Given the description of an element on the screen output the (x, y) to click on. 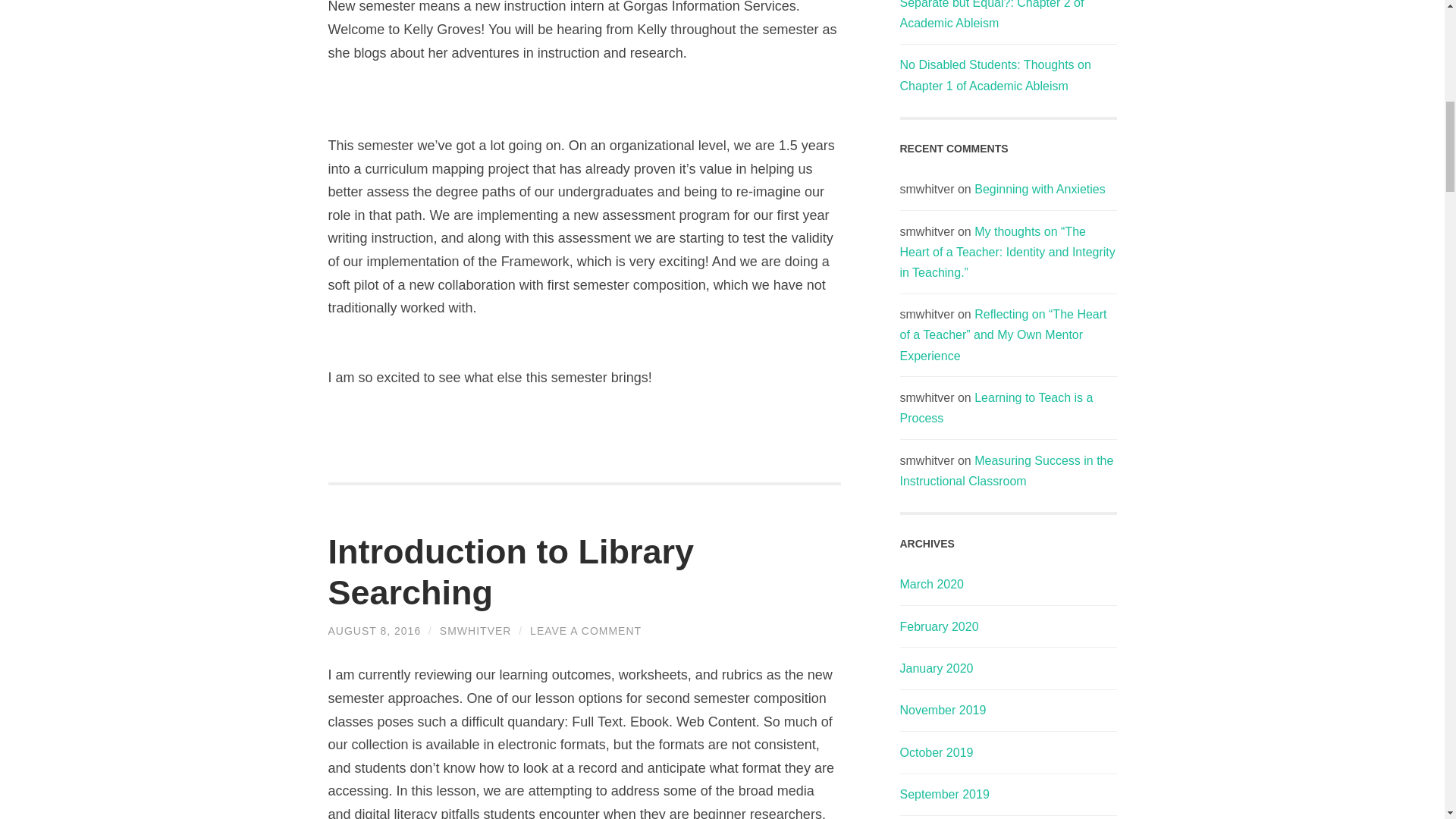
SMWHITVER (475, 630)
Introduction to Library Searching (510, 571)
Beginning with Anxieties (1039, 188)
Learning to Teach is a Process (996, 408)
LEAVE A COMMENT (585, 630)
Separate but Equal?: Chapter 2 of Academic Ableism (991, 14)
